Given the description of an element on the screen output the (x, y) to click on. 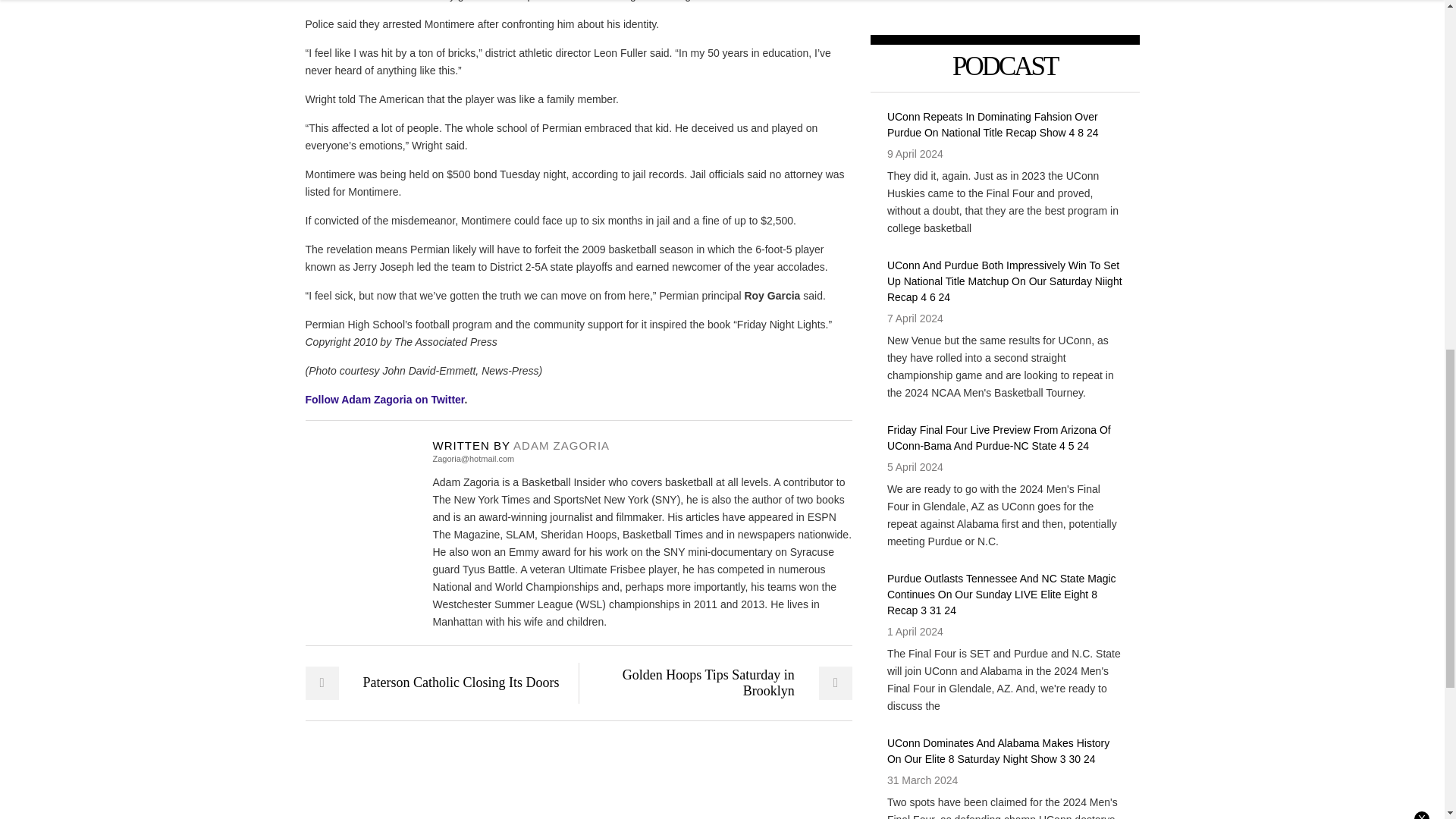
31 March 2024, 4:40 am UTC (922, 779)
7 April 2024, 4:00 am UTC (914, 318)
5 April 2024, 10:12 pm UTC (914, 467)
Texas Hoops Star is an Impostor (561, 445)
9 April 2024, 4:32 am UTC (914, 153)
